Given the description of an element on the screen output the (x, y) to click on. 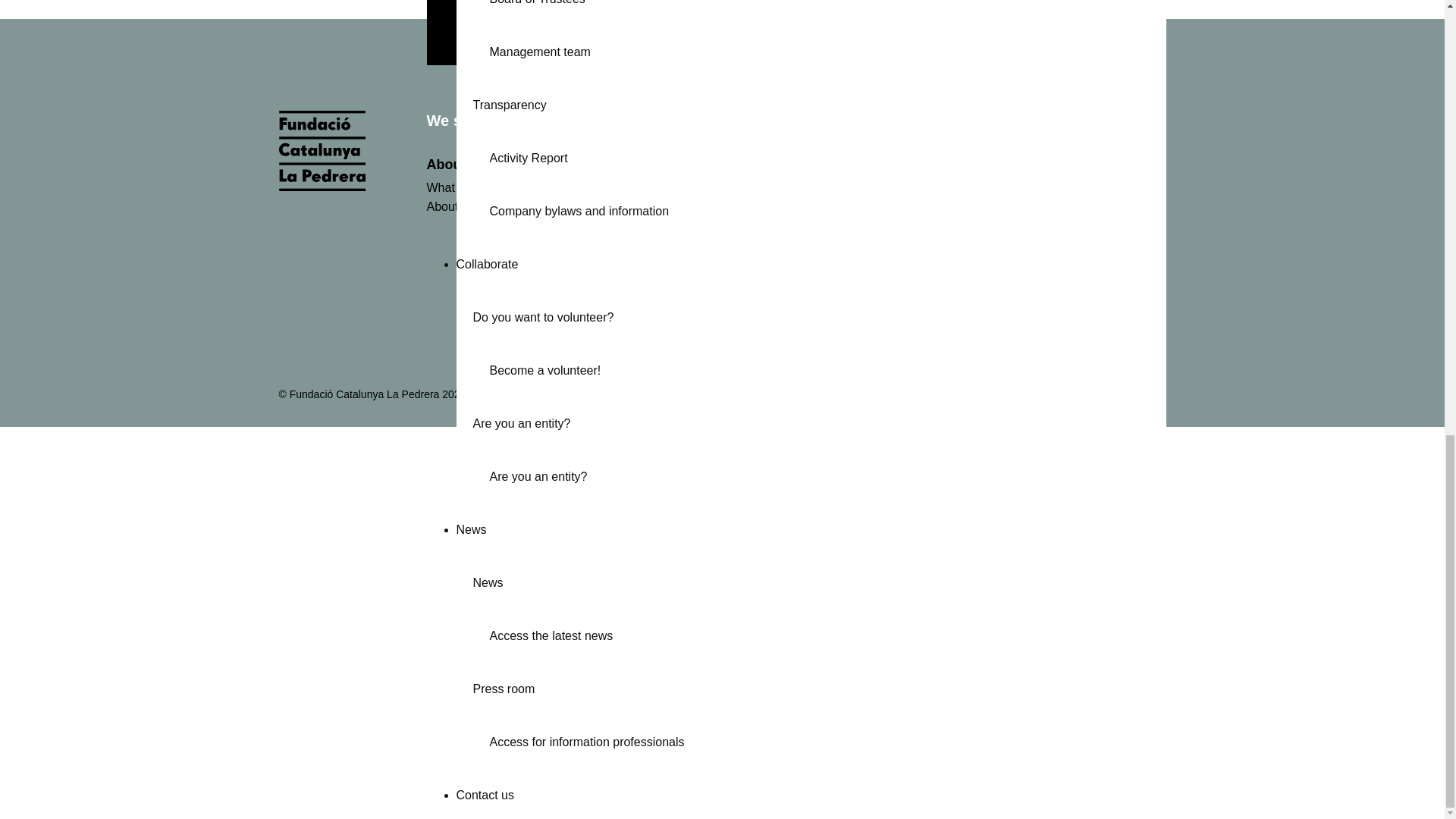
YouTube (1086, 394)
Access for information professionals (827, 738)
Company bylaws and information (827, 208)
Are you an entity? (827, 473)
Management team (827, 49)
MORE INFORMATION (906, 9)
Home (322, 186)
Access the latest news (827, 633)
Become a volunteer! (827, 367)
Board of Trustees (827, 11)
